Given the description of an element on the screen output the (x, y) to click on. 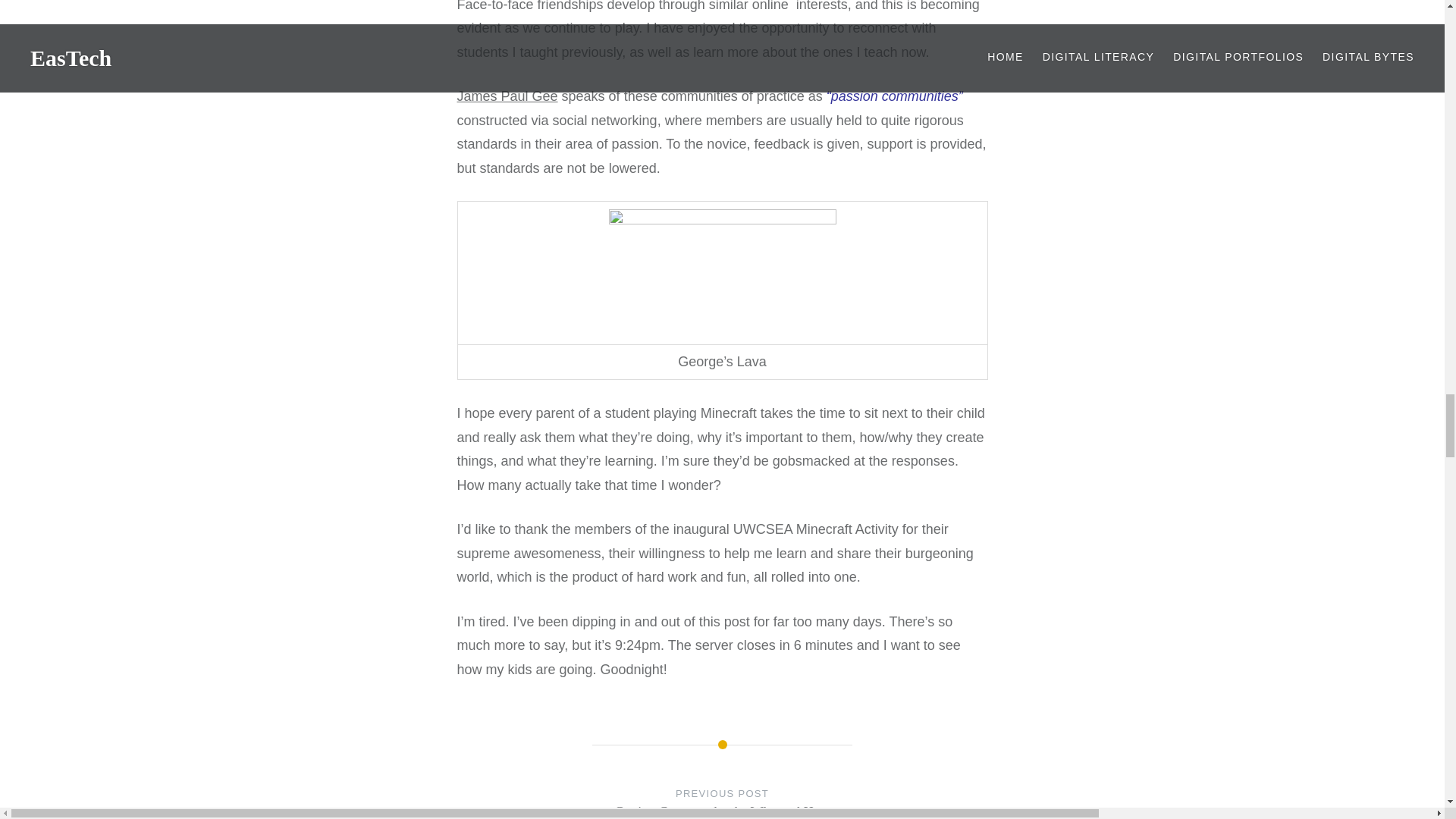
James Paul Gee (507, 96)
